Given the description of an element on the screen output the (x, y) to click on. 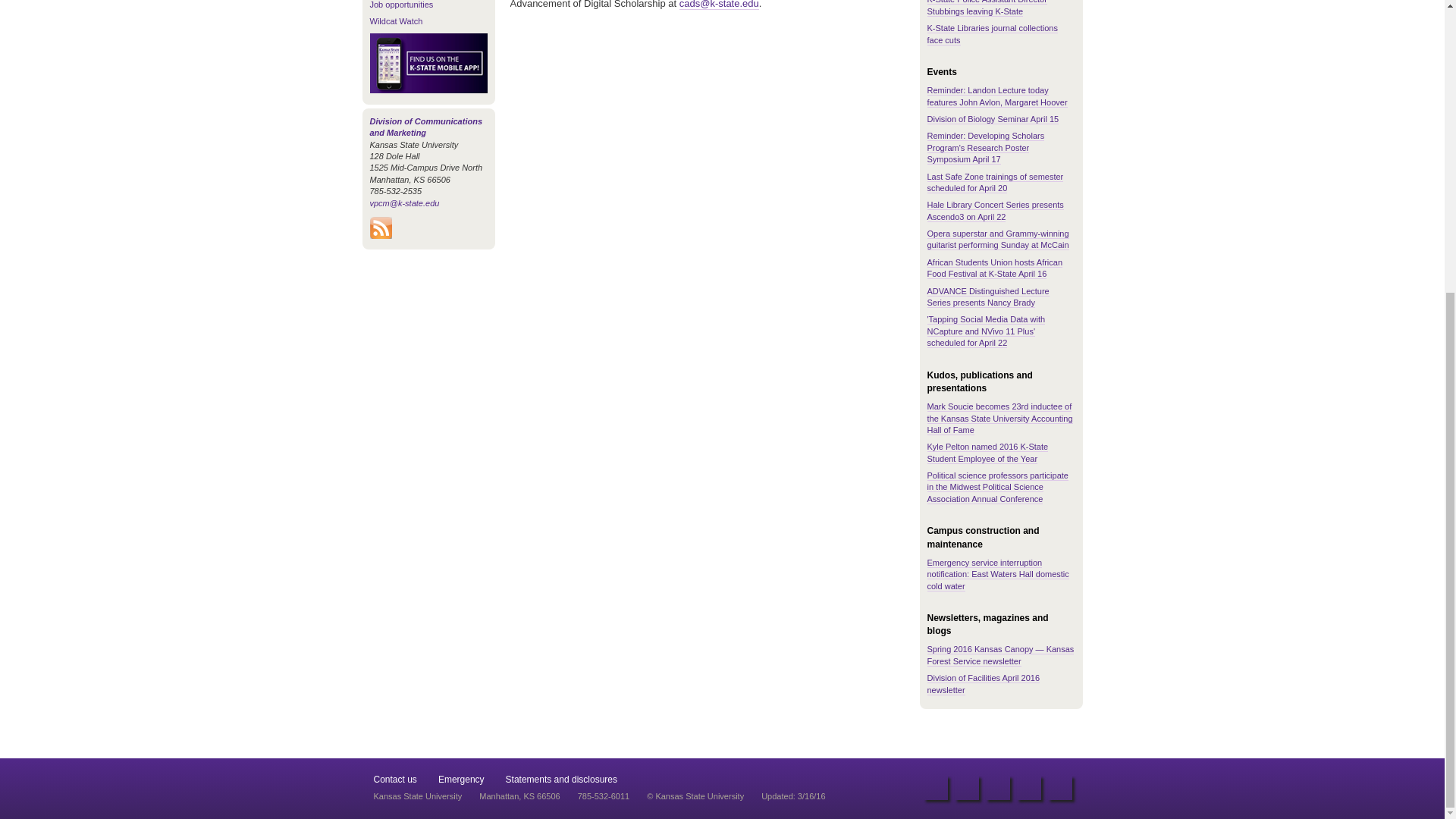
Wildcat Watch (396, 20)
Division of Communications and Marketing (426, 127)
Job opportunities (401, 4)
Subscribe to K-State Today RSS feeds (380, 235)
